Given the description of an element on the screen output the (x, y) to click on. 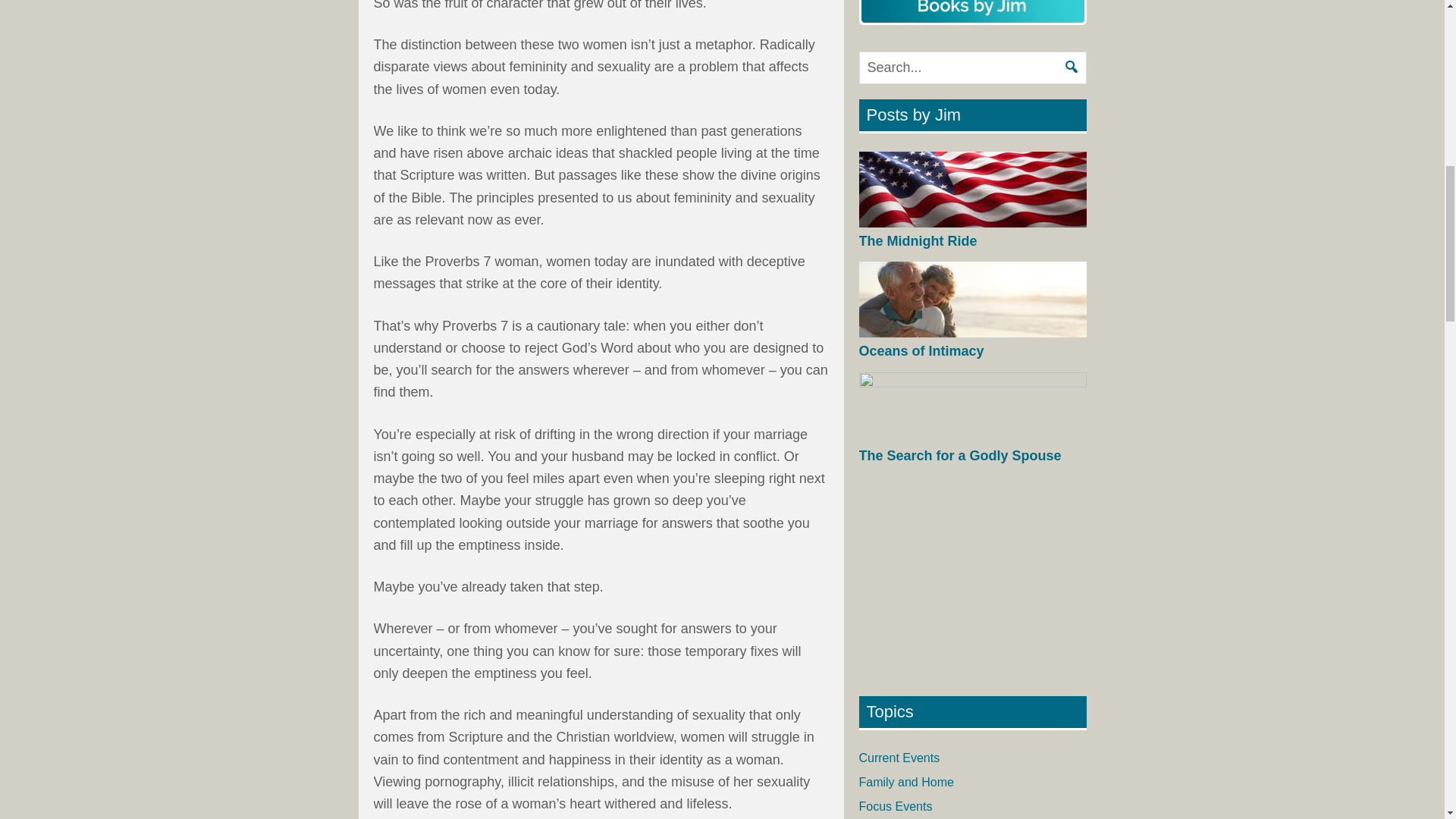
The Search for a Godly Spouse (960, 455)
The Midnight Ride (917, 240)
Oceans of Intimacy (921, 350)
